Given the description of an element on the screen output the (x, y) to click on. 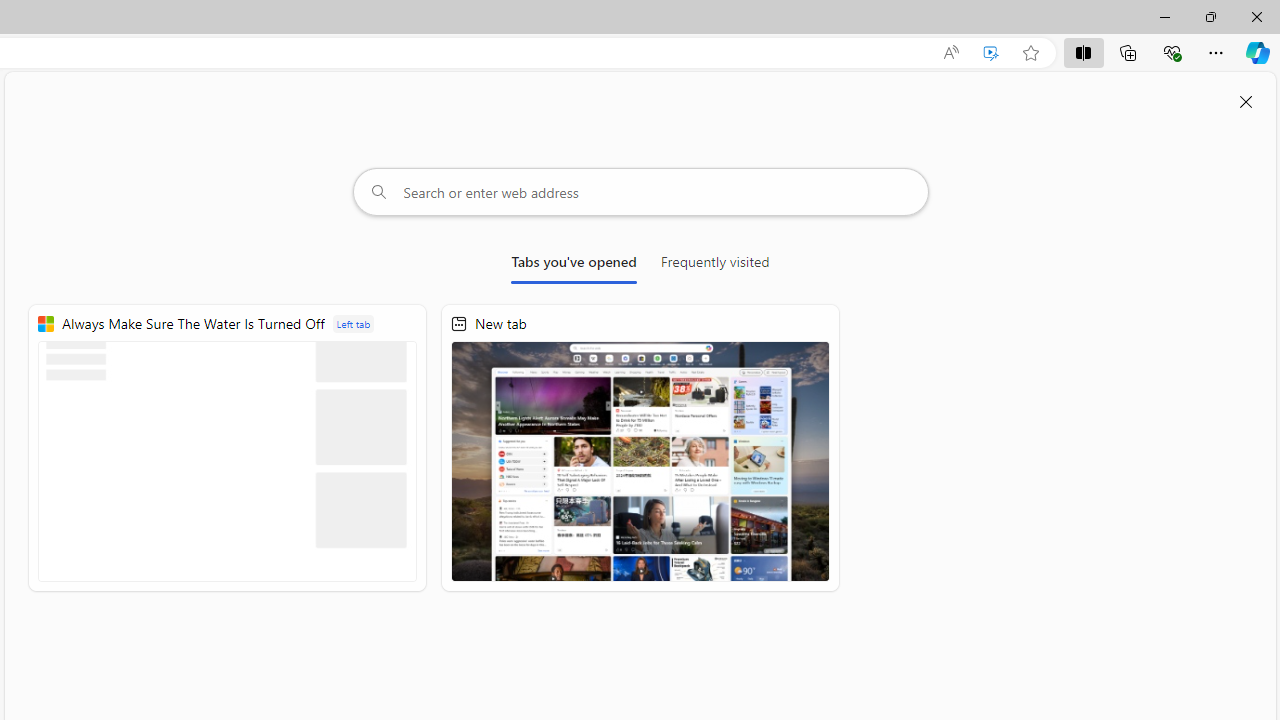
Close split screen (1245, 102)
Split screen (1083, 52)
Tabs you've opened (573, 265)
Close (1256, 16)
Minimize (1164, 16)
Frequently visited (715, 265)
Read aloud this page (Ctrl+Shift+U) (950, 53)
Collections (1128, 52)
Restore (1210, 16)
Outlook (1258, 174)
Copilot (Ctrl+Shift+.) (1258, 52)
Search or enter web address (640, 191)
Browser essentials (1171, 52)
Add this page to favorites (Ctrl+D) (1030, 53)
